Given the description of an element on the screen output the (x, y) to click on. 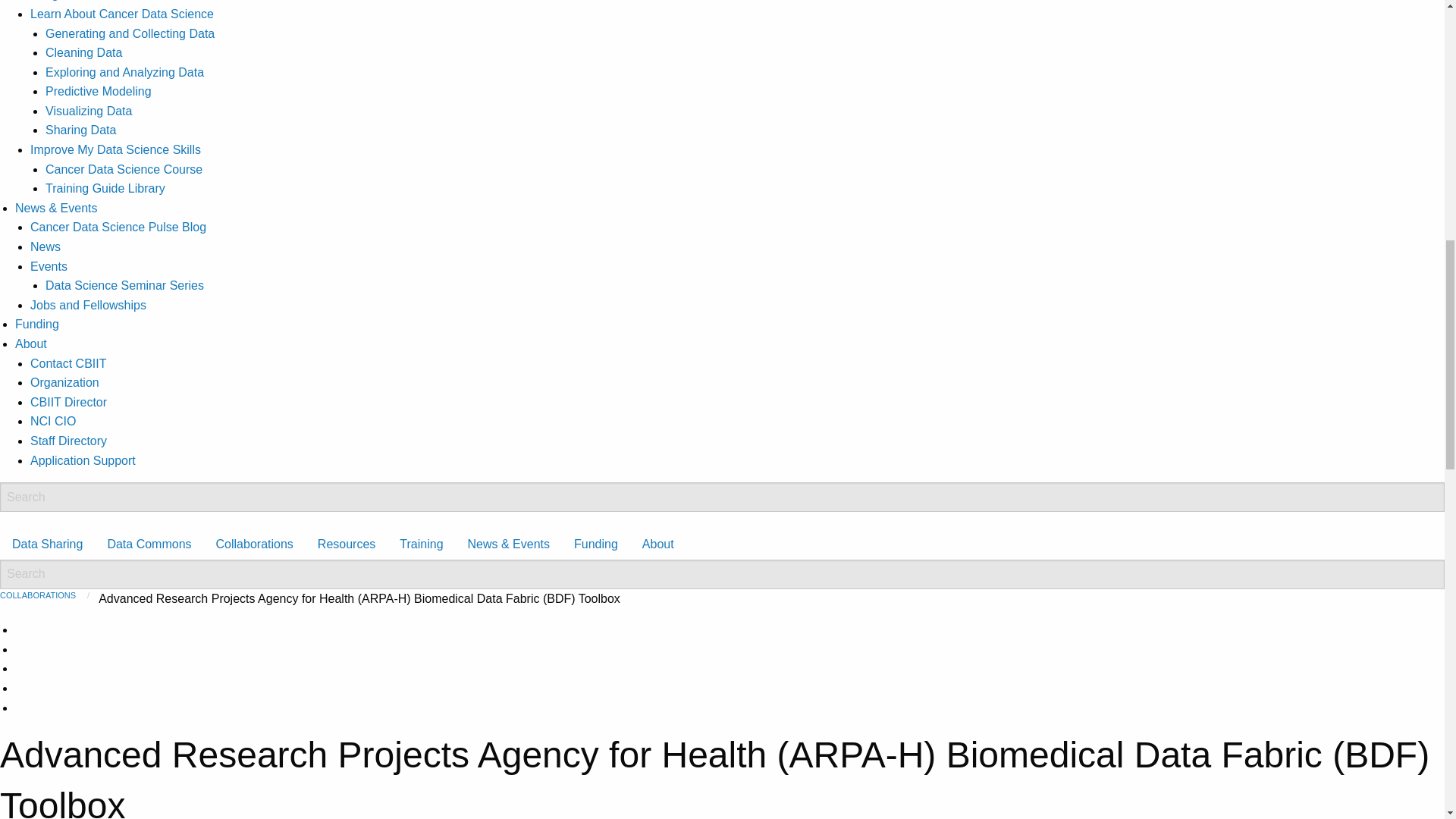
Improve My Data Science Skills (115, 149)
Visualizing Data (88, 110)
Learn About Cancer Data Science (122, 13)
Cleaning Data (83, 51)
Training (420, 543)
Sharing Data (80, 129)
Training (36, 0)
Predictive Modeling (98, 91)
Generating and Collecting Data (129, 33)
Cancer Data Science Course (123, 169)
Training Guide Library (105, 187)
Exploring and Analyzing Data (124, 72)
